Given the description of an element on the screen output the (x, y) to click on. 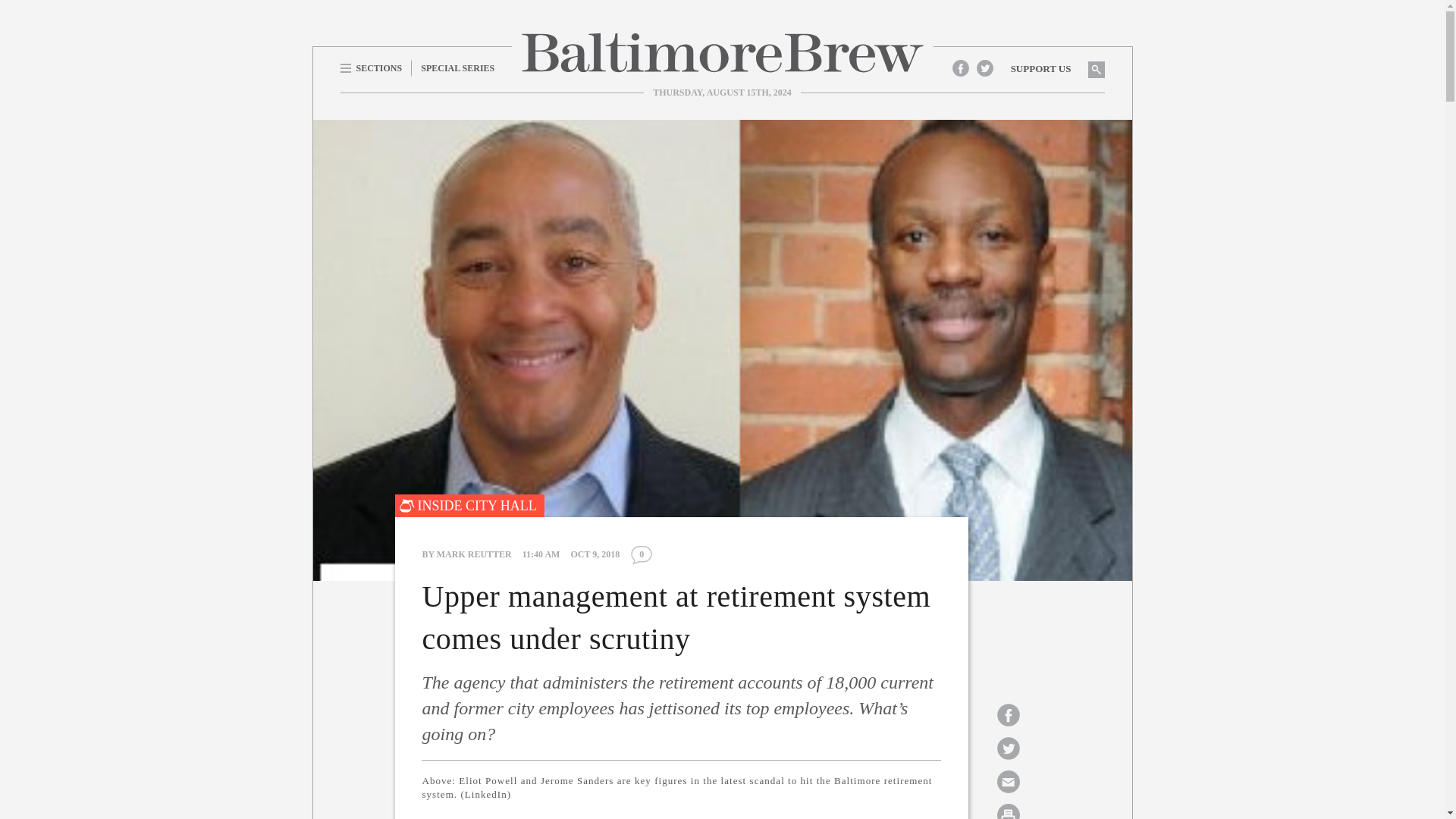
0 (641, 554)
Share on Facebook (1008, 714)
INSIDE CITY HALL (468, 504)
SPECIAL SERIES (457, 67)
SECTIONS (374, 67)
MARK REUTTER (474, 553)
Twitter (984, 67)
Facebook (960, 67)
SUPPORT US (1040, 68)
Email this article (1008, 781)
